Given the description of an element on the screen output the (x, y) to click on. 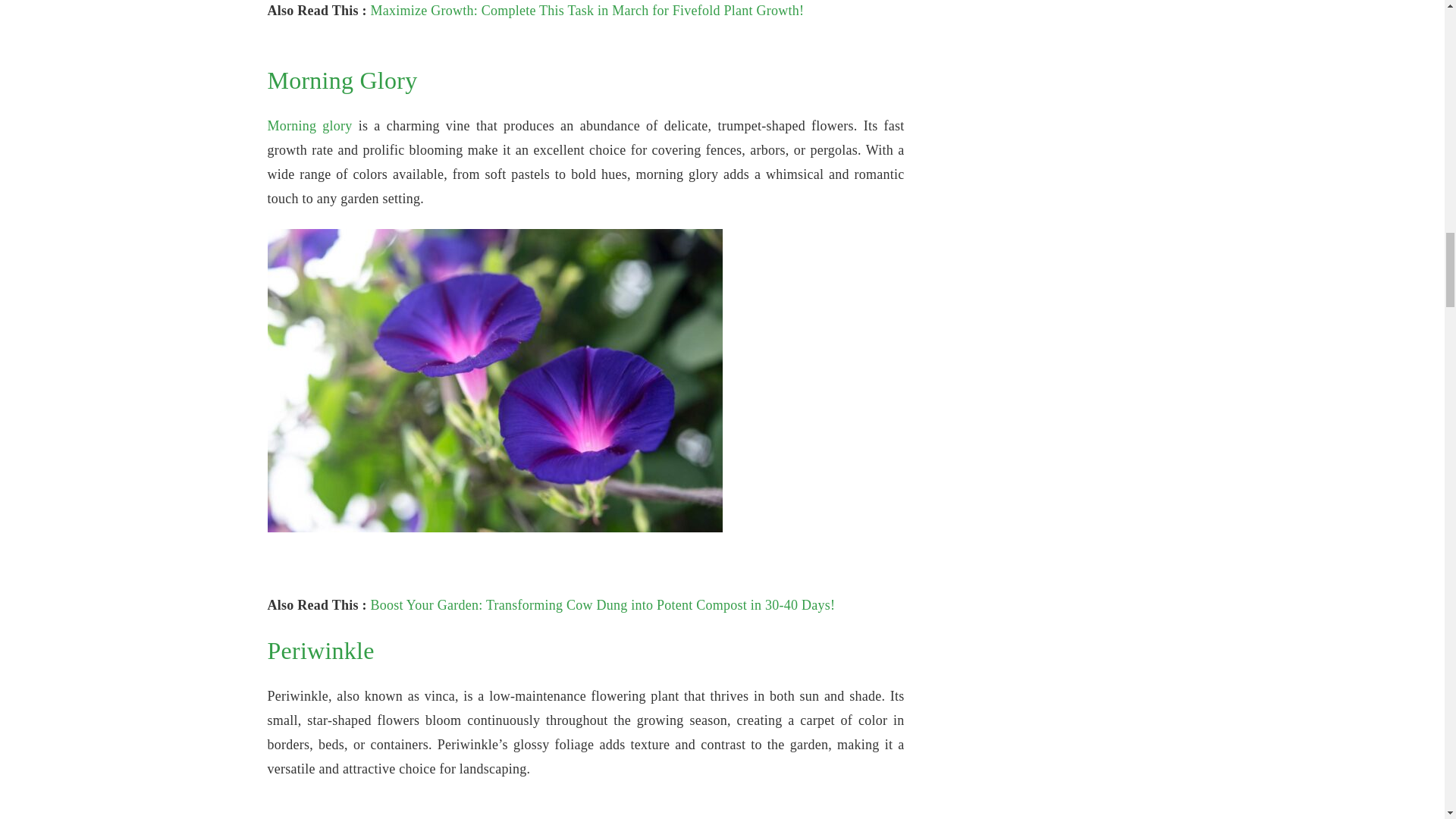
Morning glory (309, 125)
Advertisement (585, 809)
